Given the description of an element on the screen output the (x, y) to click on. 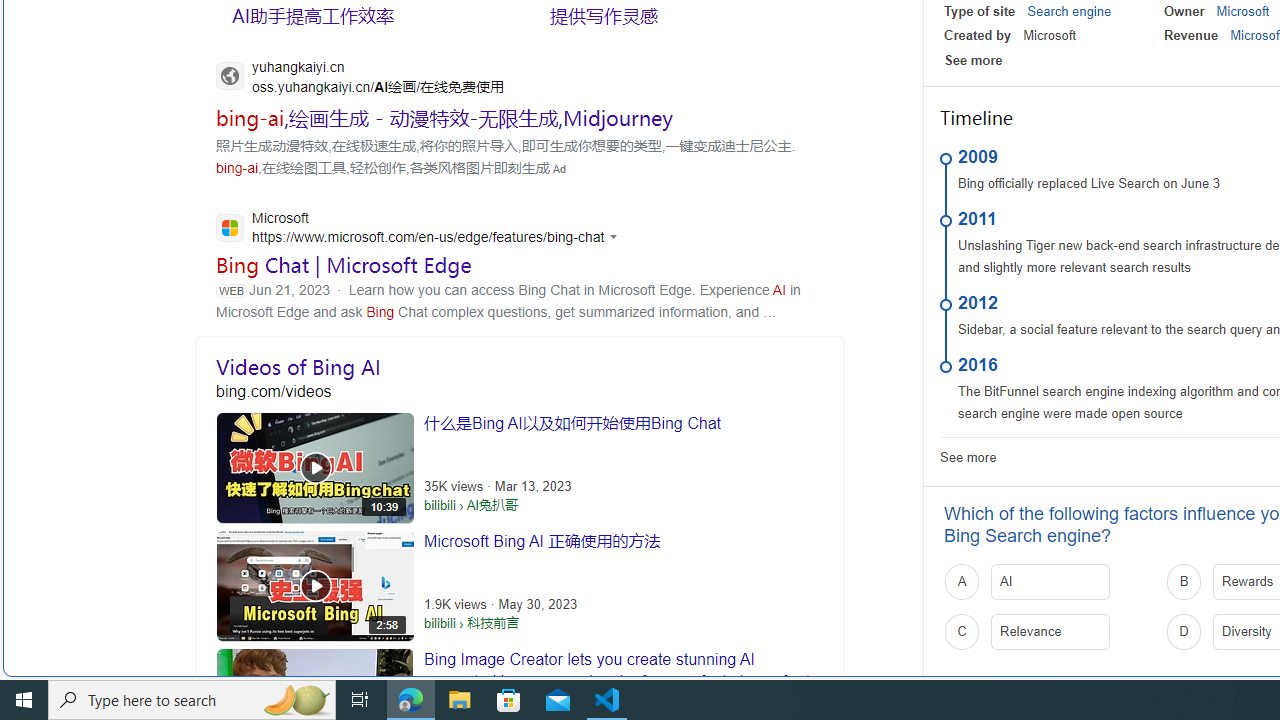
Actions for this site (616, 236)
Bing Chat | Microsoft Edge (344, 264)
Videos of Bing AI (520, 366)
A AI (1049, 582)
SERP,5521 (365, 15)
C Relevance (1049, 631)
Bing officially replaced Live Search on June 3 (1089, 183)
Owner (1183, 11)
Microsoft (1242, 11)
Revenue (1190, 35)
